Given the description of an element on the screen output the (x, y) to click on. 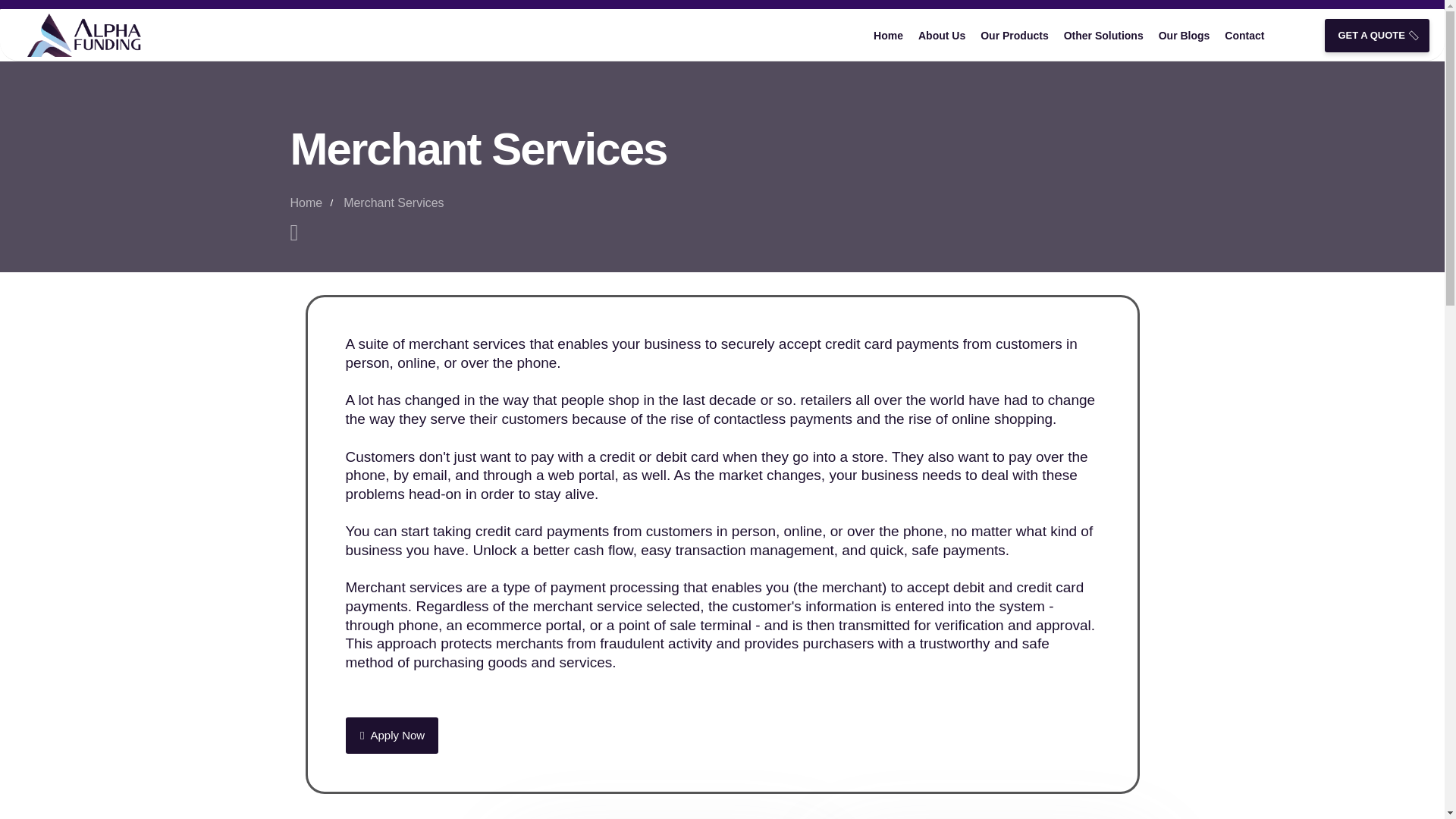
Our Products (1013, 34)
Other Solutions (1104, 34)
Contact (1244, 34)
GET A QUOTE (1376, 35)
Our Blogs (1184, 34)
About Us (941, 34)
